Given the description of an element on the screen output the (x, y) to click on. 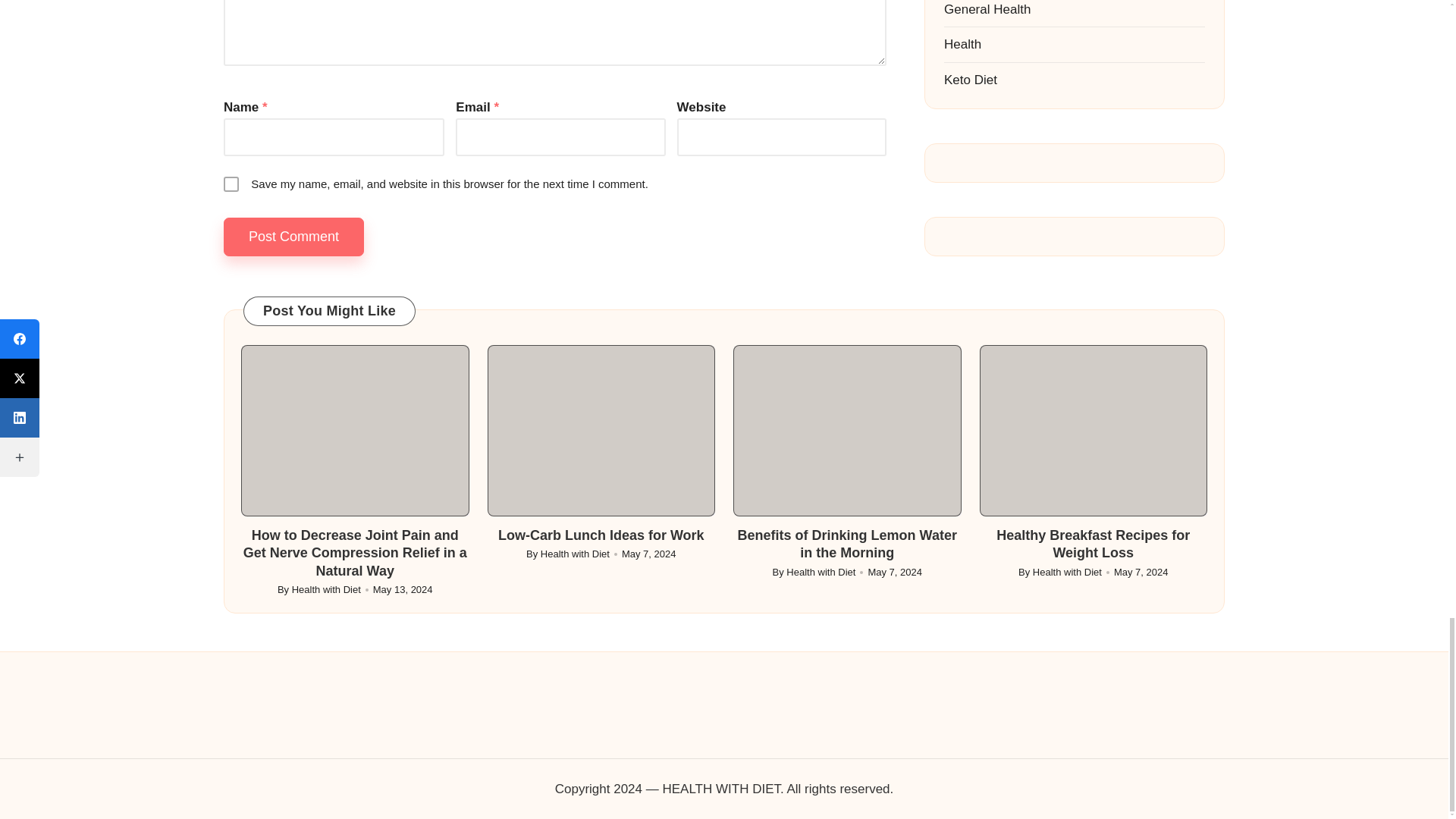
View all posts by Health with Diet (575, 553)
Healthy Breakfast Recipes for Weight Loss 6 (1093, 430)
View all posts by Health with Diet (326, 589)
Post Comment (294, 236)
View all posts by Health with Diet (821, 572)
yes (231, 183)
Benefits of Drinking Lemon Water in the Morning 5 (846, 430)
View all posts by Health with Diet (1067, 572)
Low-Carb Lunch Ideas for Work 4 (600, 430)
